Given the description of an element on the screen output the (x, y) to click on. 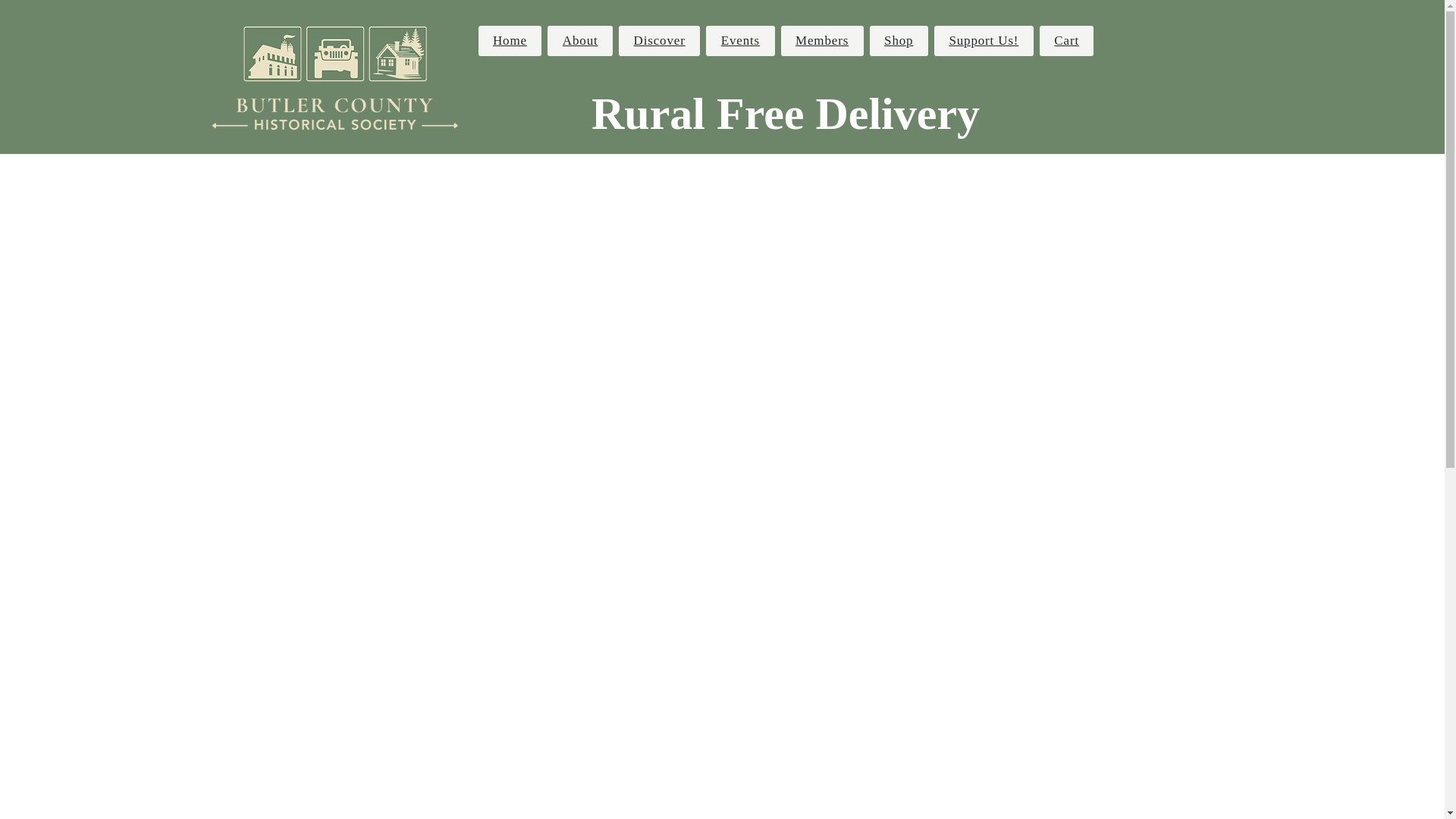
Shop (898, 40)
Events (740, 40)
Support Us! (983, 40)
Discover (659, 40)
Cart (1066, 40)
About (579, 40)
Members (821, 40)
Home (509, 40)
